Given the description of an element on the screen output the (x, y) to click on. 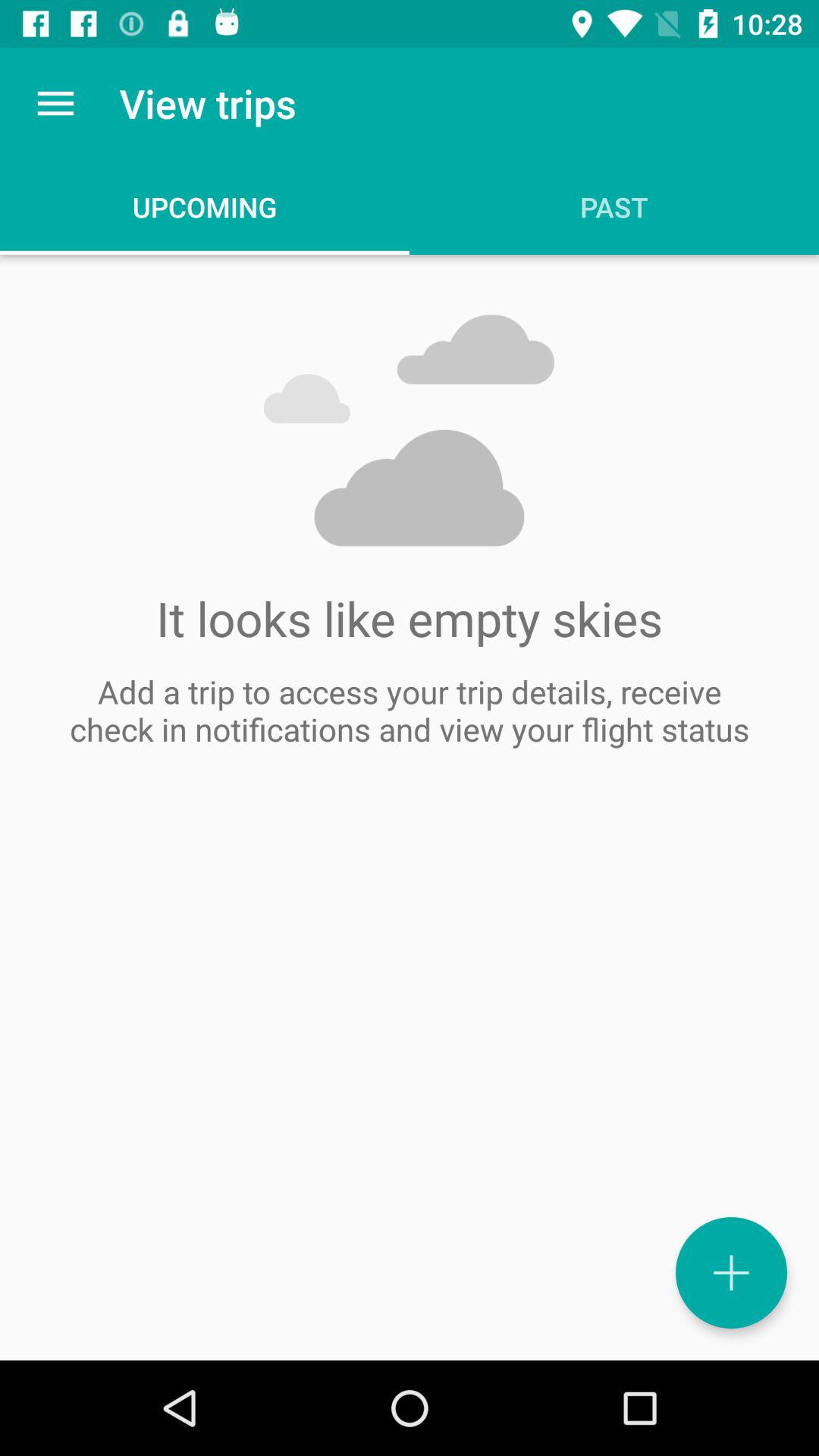
add an item (731, 1272)
